Given the description of an element on the screen output the (x, y) to click on. 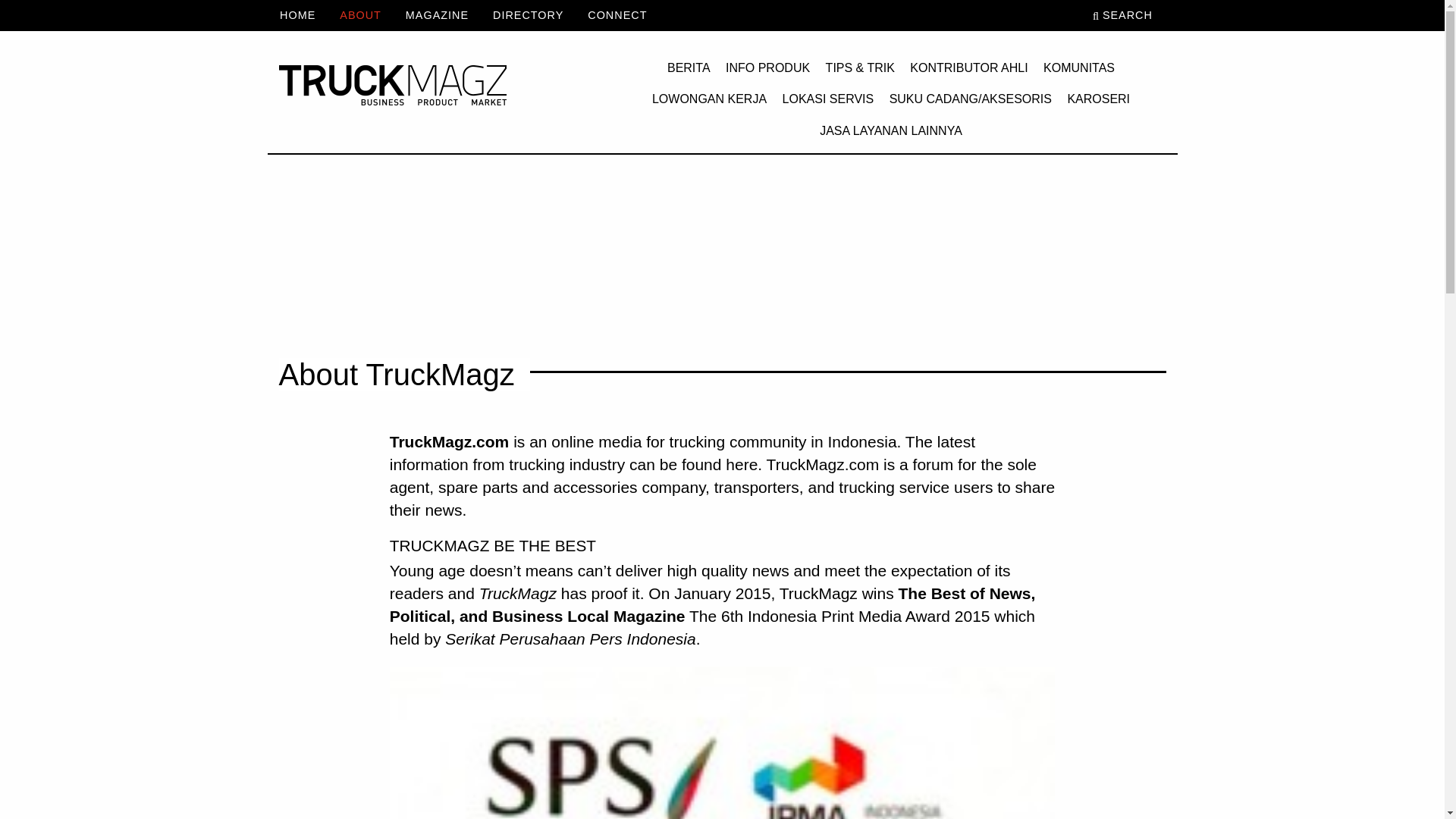
LOWONGAN KERJA (709, 100)
CONNECT (617, 15)
KOMUNITAS (1078, 68)
KAROSERI (1098, 100)
INFO PRODUK (767, 68)
JASA LAYANAN LAINNYA (890, 131)
KONTRIBUTOR AHLI (968, 68)
DIRECTORY (527, 15)
Advertisement (721, 246)
BERITA (688, 68)
HOME (303, 15)
SEARCH (1128, 15)
MAGAZINE (436, 15)
LOKASI SERVIS (828, 100)
ABOUT (360, 15)
